Given the description of an element on the screen output the (x, y) to click on. 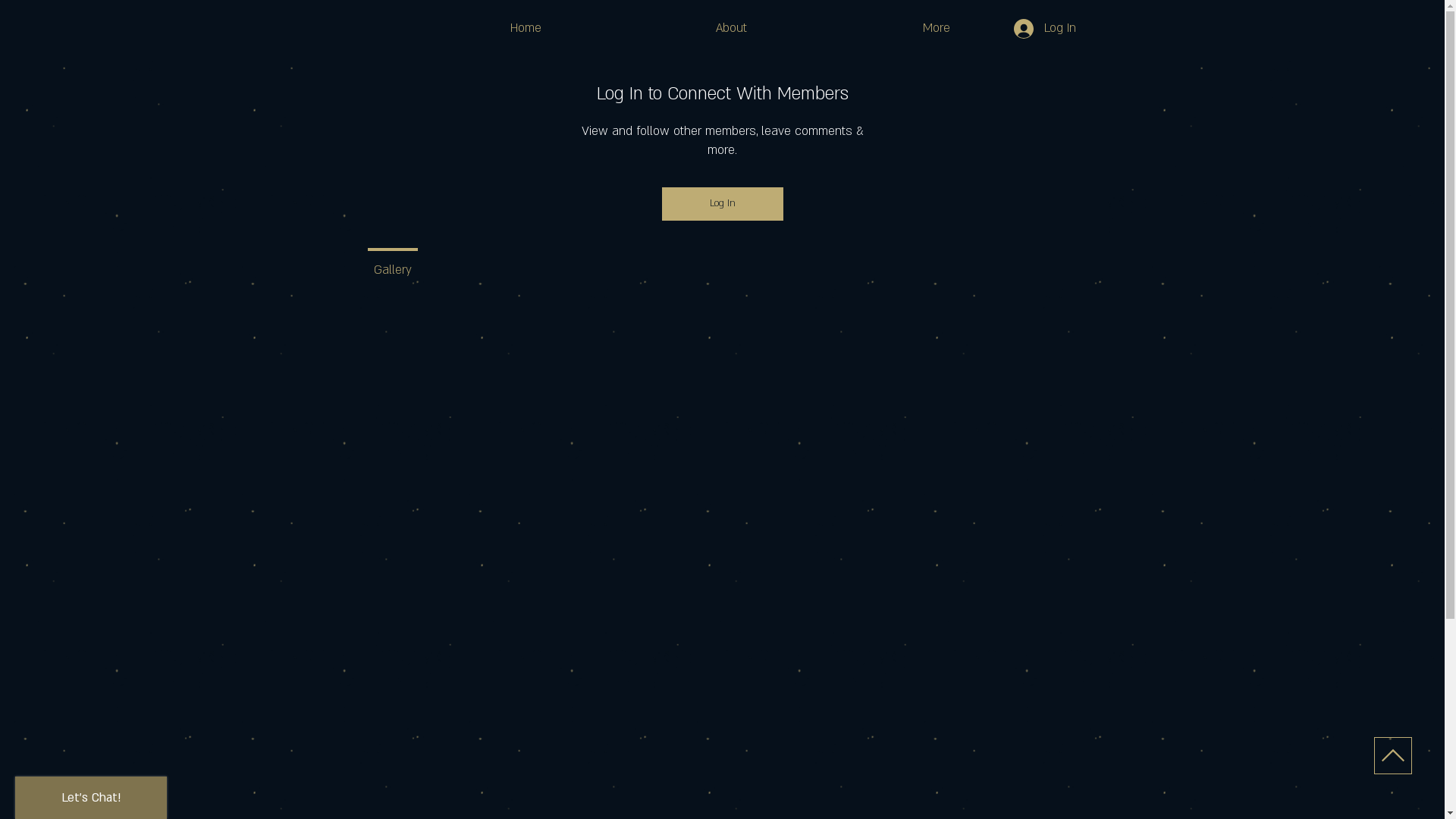
About Element type: text (730, 28)
Home Element type: text (525, 28)
Log In Element type: text (1043, 27)
Gallery Element type: text (391, 262)
Log In Element type: text (721, 203)
